Given the description of an element on the screen output the (x, y) to click on. 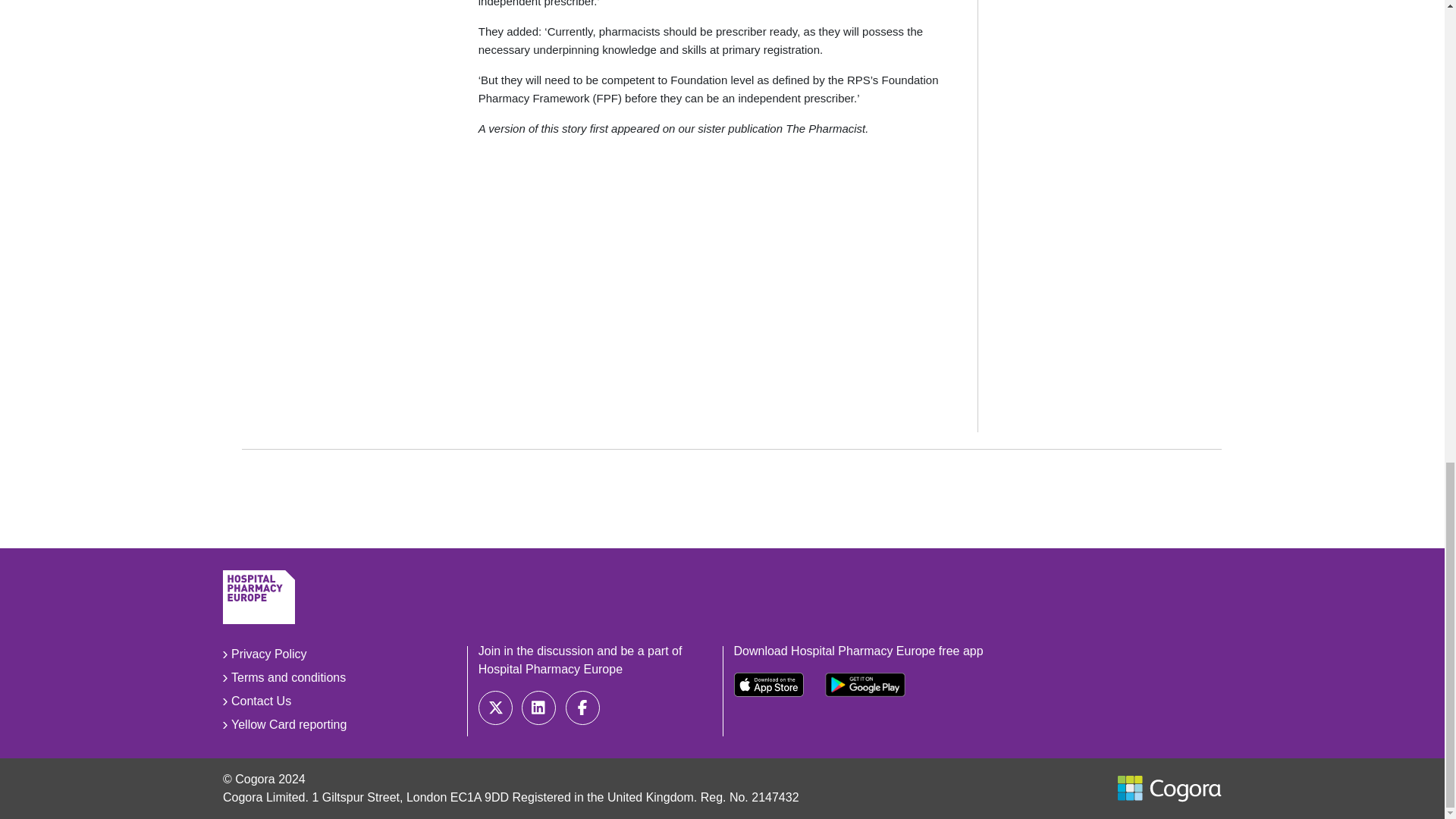
Download our app from the Apple App Store (768, 684)
